Given the description of an element on the screen output the (x, y) to click on. 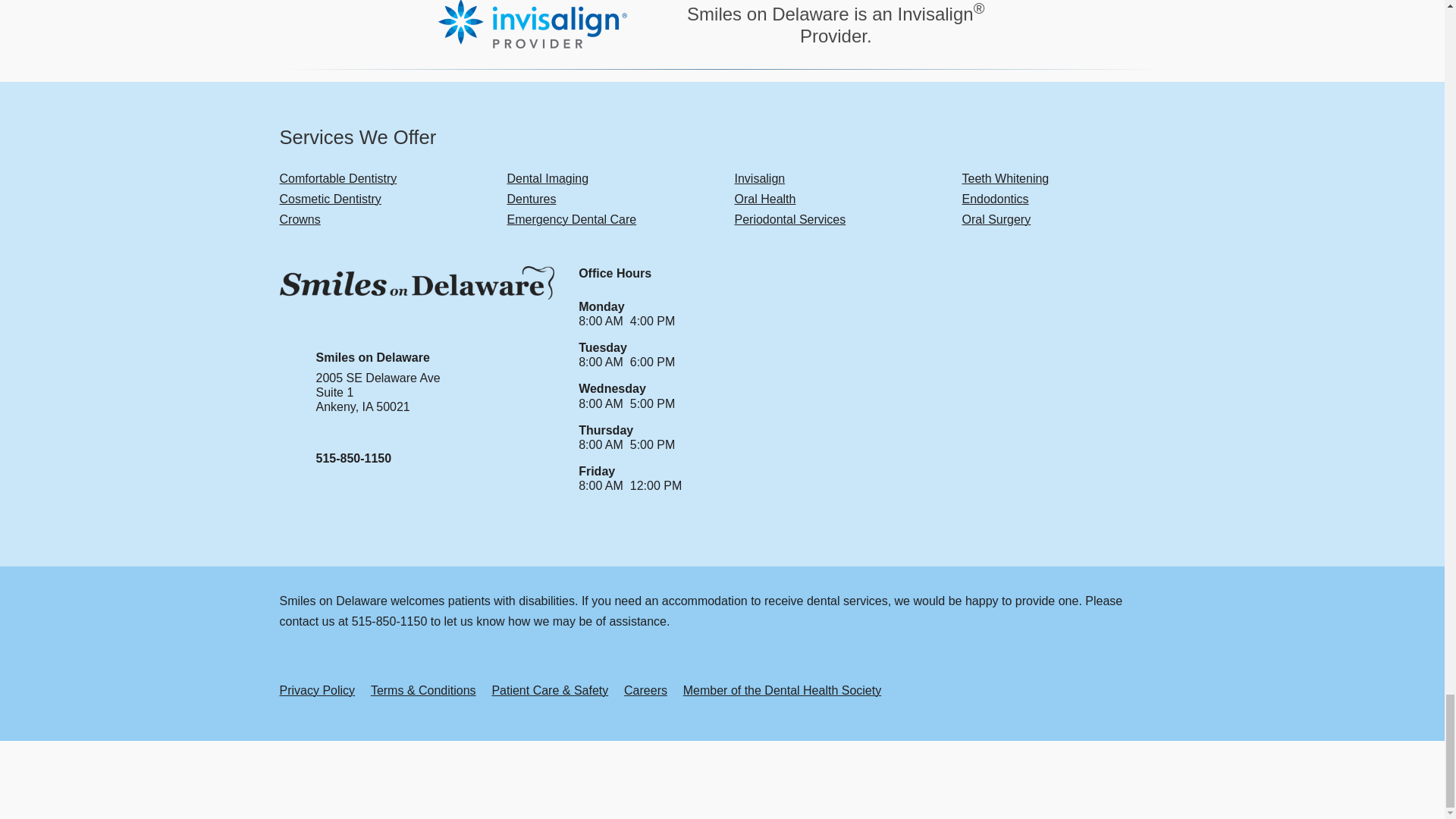
Facebook (1112, 537)
Wednesday (612, 388)
Monday (601, 306)
Tuesday (602, 347)
Instagram (1149, 537)
Friday (596, 471)
Thursday (605, 430)
